Given the description of an element on the screen output the (x, y) to click on. 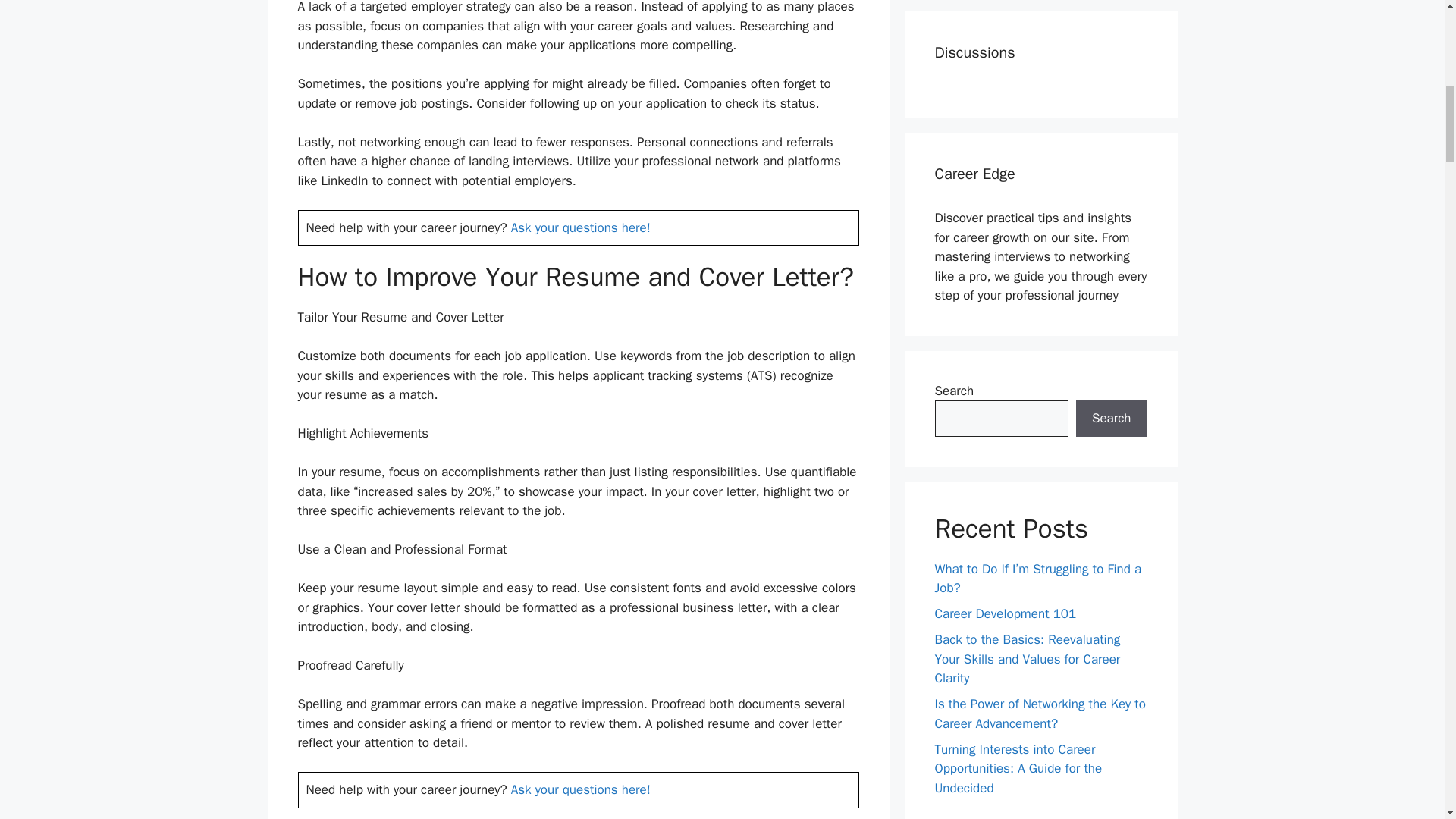
Career Development 101 (1004, 613)
Ask your questions here! (580, 227)
Search (1111, 418)
Ask your questions here! (580, 789)
